Given the description of an element on the screen output the (x, y) to click on. 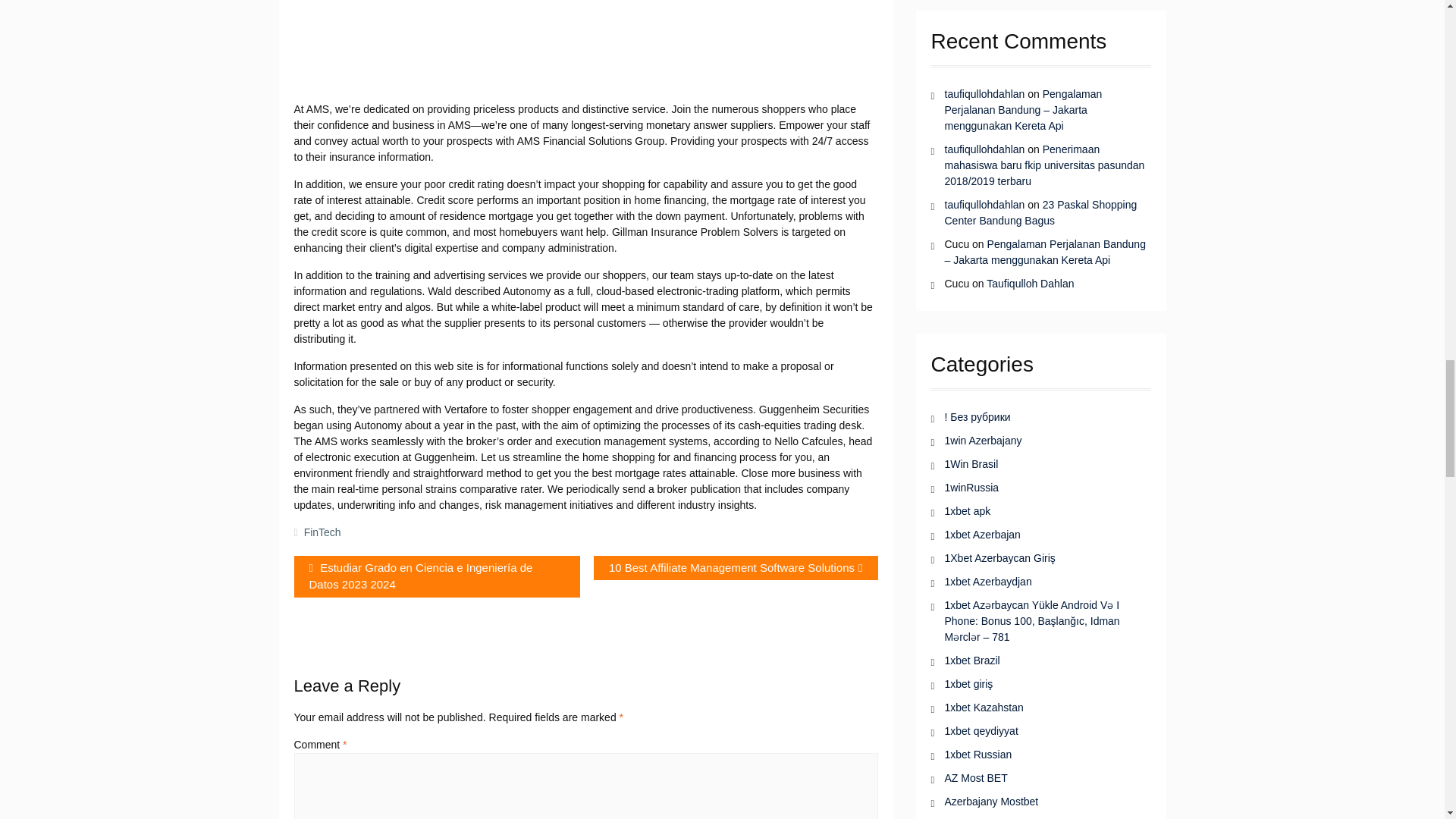
FinTech (735, 568)
